Given the description of an element on the screen output the (x, y) to click on. 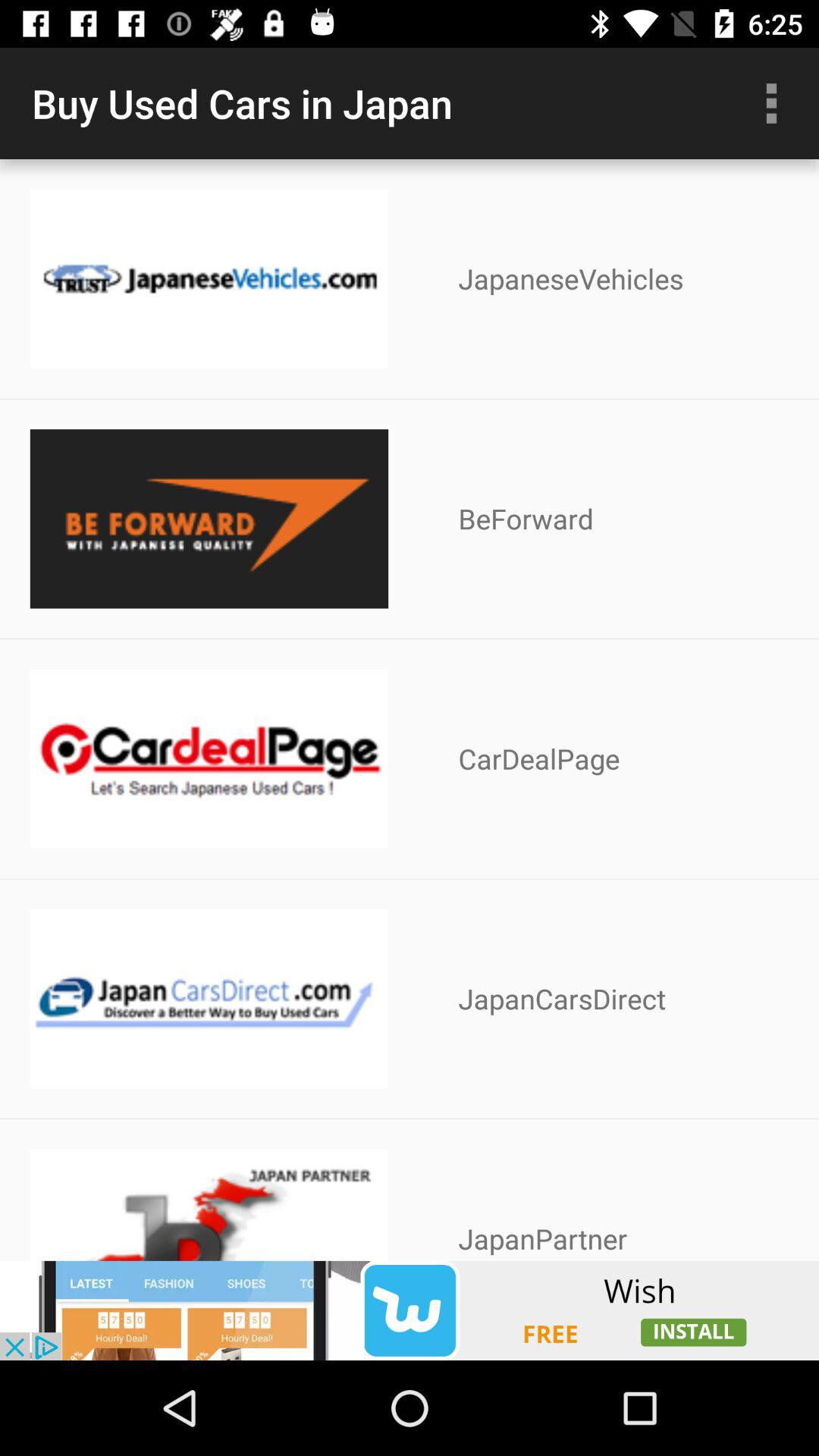
open menu (771, 103)
